Given the description of an element on the screen output the (x, y) to click on. 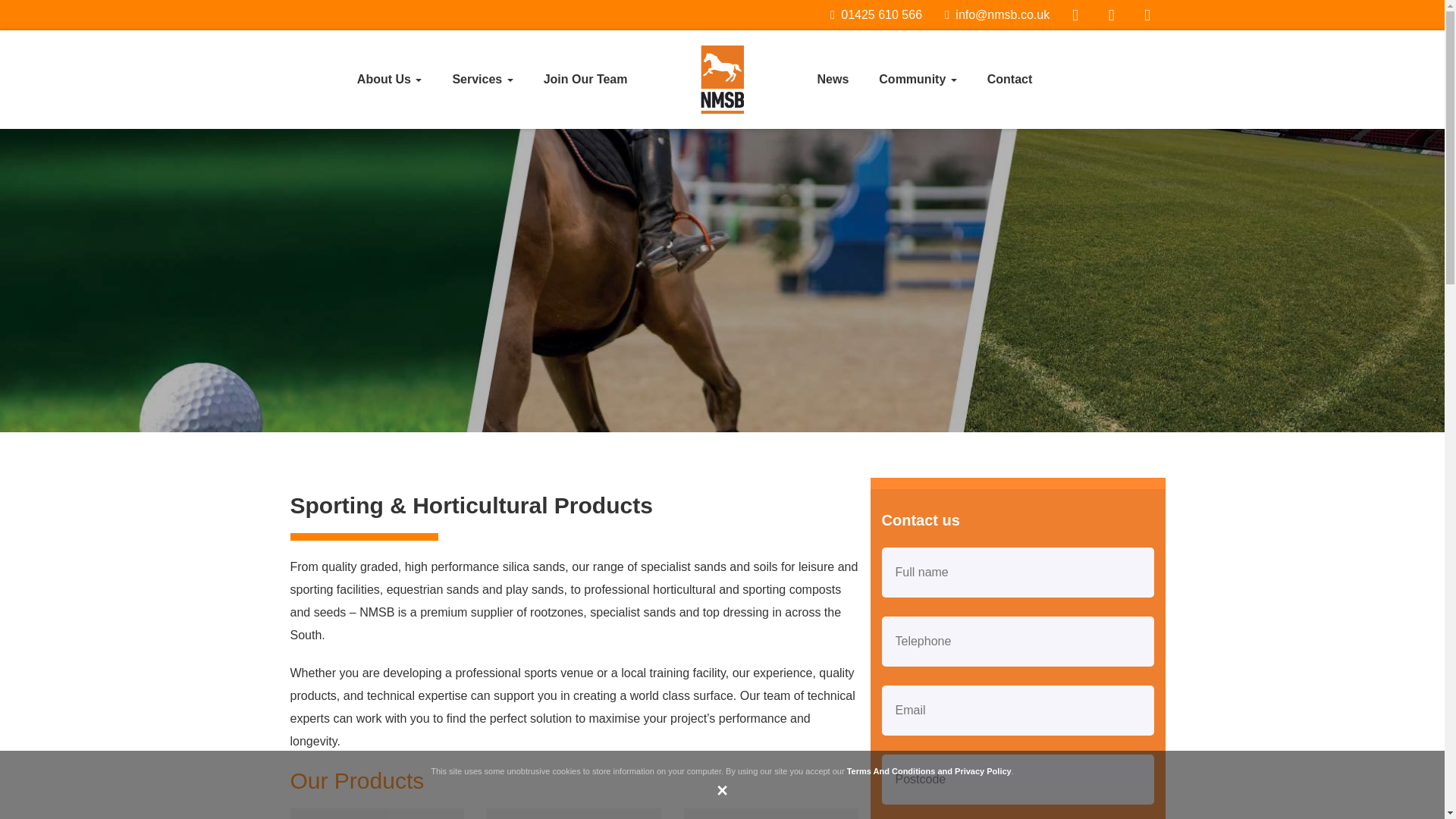
Community (917, 79)
  01425 610 566 (875, 14)
Contact (1009, 79)
Services (482, 79)
Join Our Team (585, 79)
About Us (389, 79)
News (832, 79)
